Given the description of an element on the screen output the (x, y) to click on. 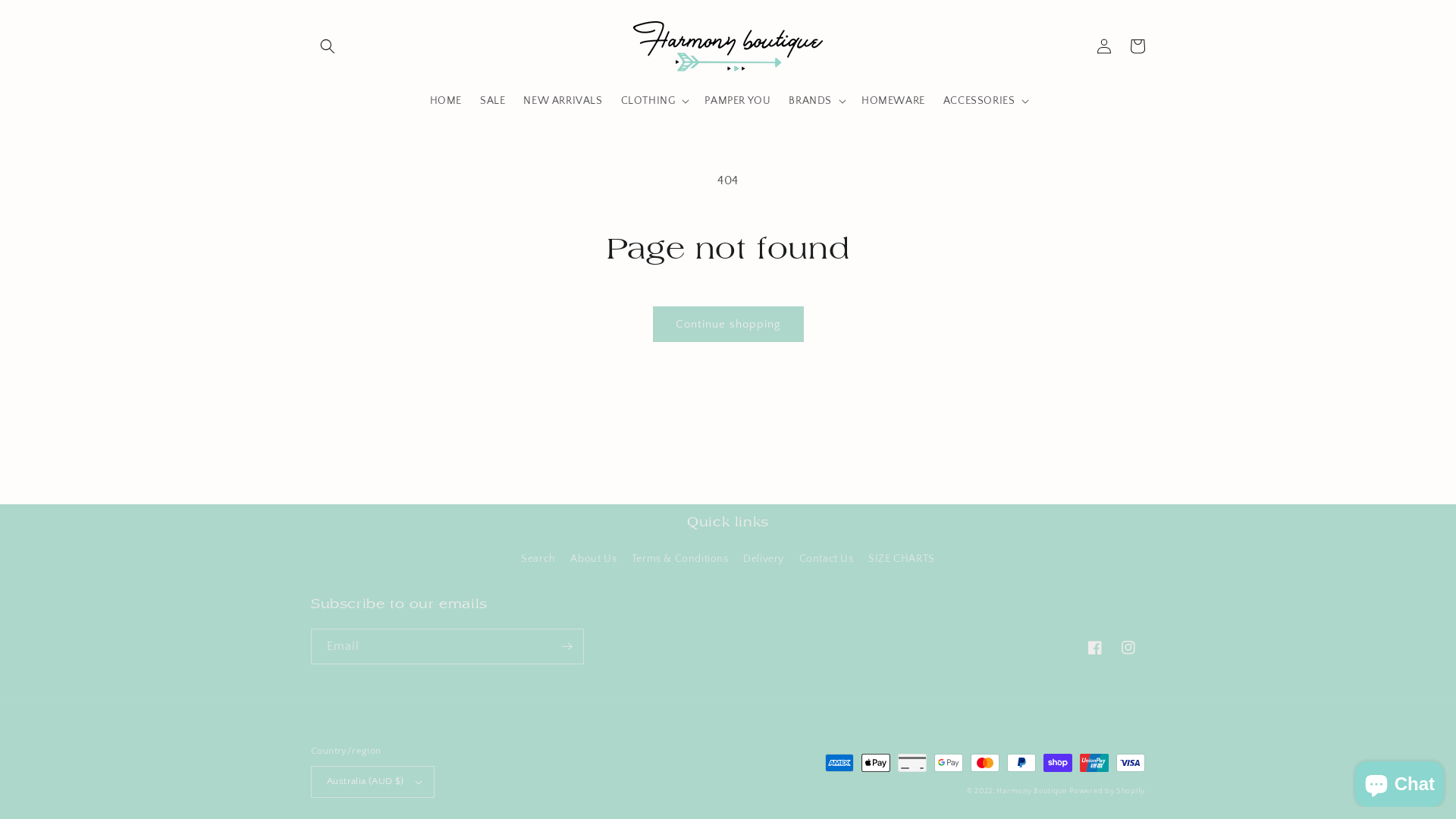
Shopify online store chat Element type: hover (1399, 780)
HOMEWARE Element type: text (893, 100)
HOME Element type: text (445, 100)
Contact Us Element type: text (826, 559)
Harmony Boutique Element type: text (1031, 791)
SALE Element type: text (492, 100)
NEW ARRIVALS Element type: text (562, 100)
Australia (AUD $) Element type: text (372, 781)
About Us Element type: text (593, 559)
Instagram Element type: text (1128, 647)
Search Element type: text (537, 560)
Powered by Shopify Element type: text (1107, 791)
Log in Element type: text (1103, 45)
SIZE CHARTS Element type: text (901, 559)
PAMPER YOU Element type: text (737, 100)
Continue shopping Element type: text (727, 324)
Facebook Element type: text (1094, 647)
Cart Element type: text (1137, 45)
Terms & Conditions Element type: text (679, 559)
Delivery Element type: text (763, 559)
